Given the description of an element on the screen output the (x, y) to click on. 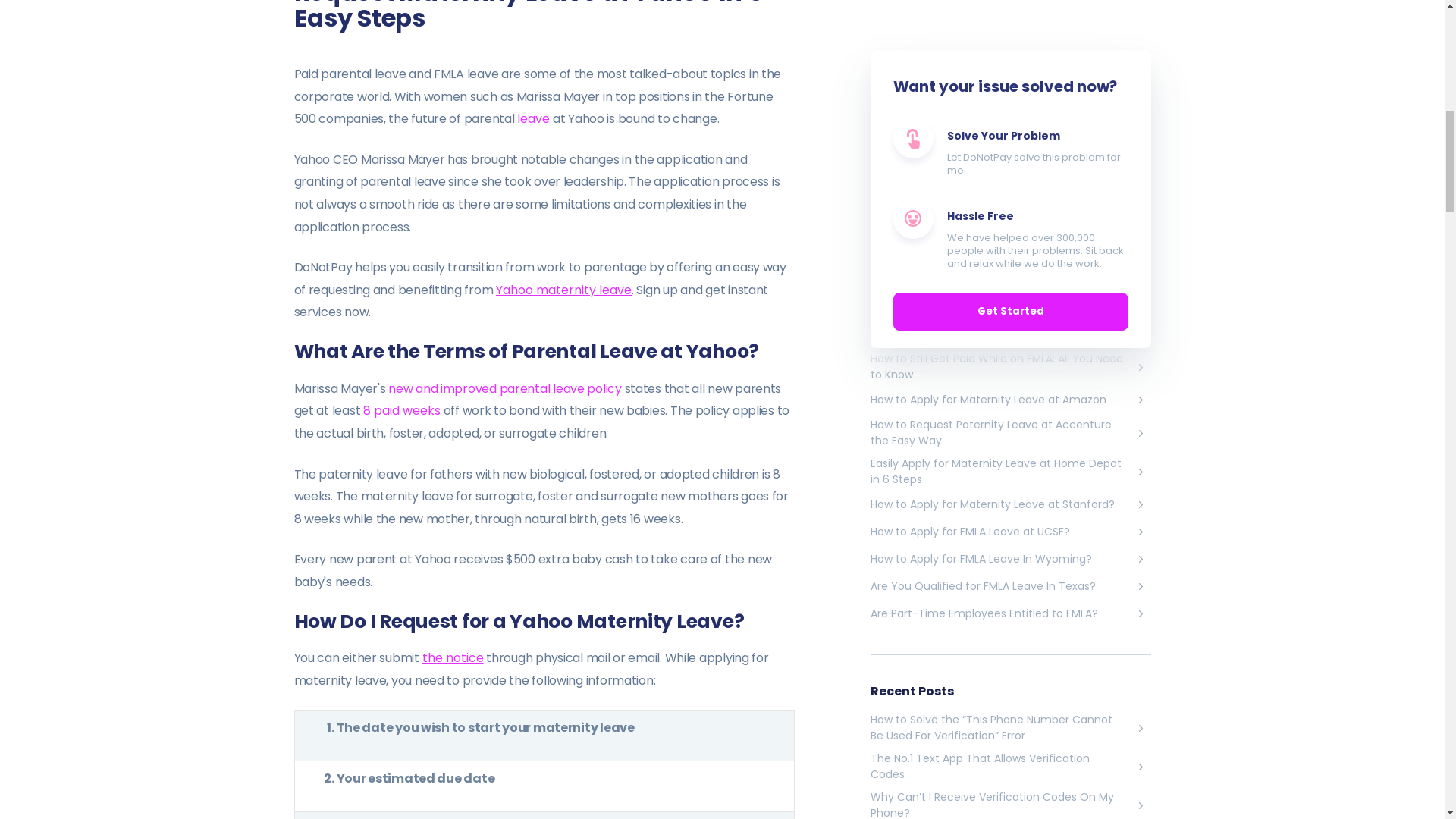
8 paid weeks (401, 410)
Yahoo maternity leave (563, 289)
the notice (452, 657)
leave (533, 117)
new and improved parental leave policy (504, 388)
